Given the description of an element on the screen output the (x, y) to click on. 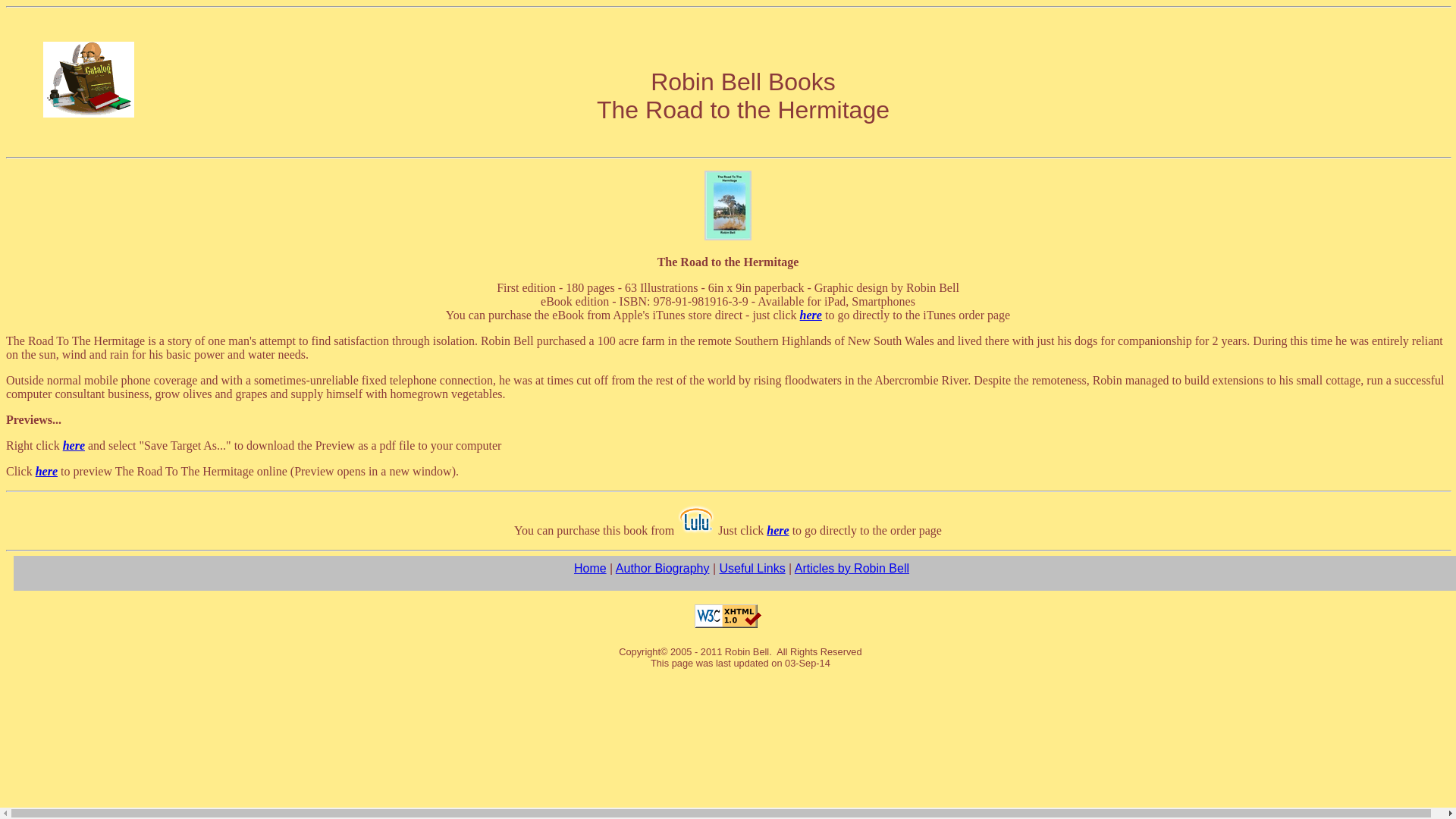
here (73, 445)
here (810, 314)
here (46, 471)
Useful Links (752, 567)
Home (590, 567)
Articles by Robin Bell (851, 567)
here (778, 530)
Hermitage Preview. (46, 471)
Author Biography (662, 567)
